Given the description of an element on the screen output the (x, y) to click on. 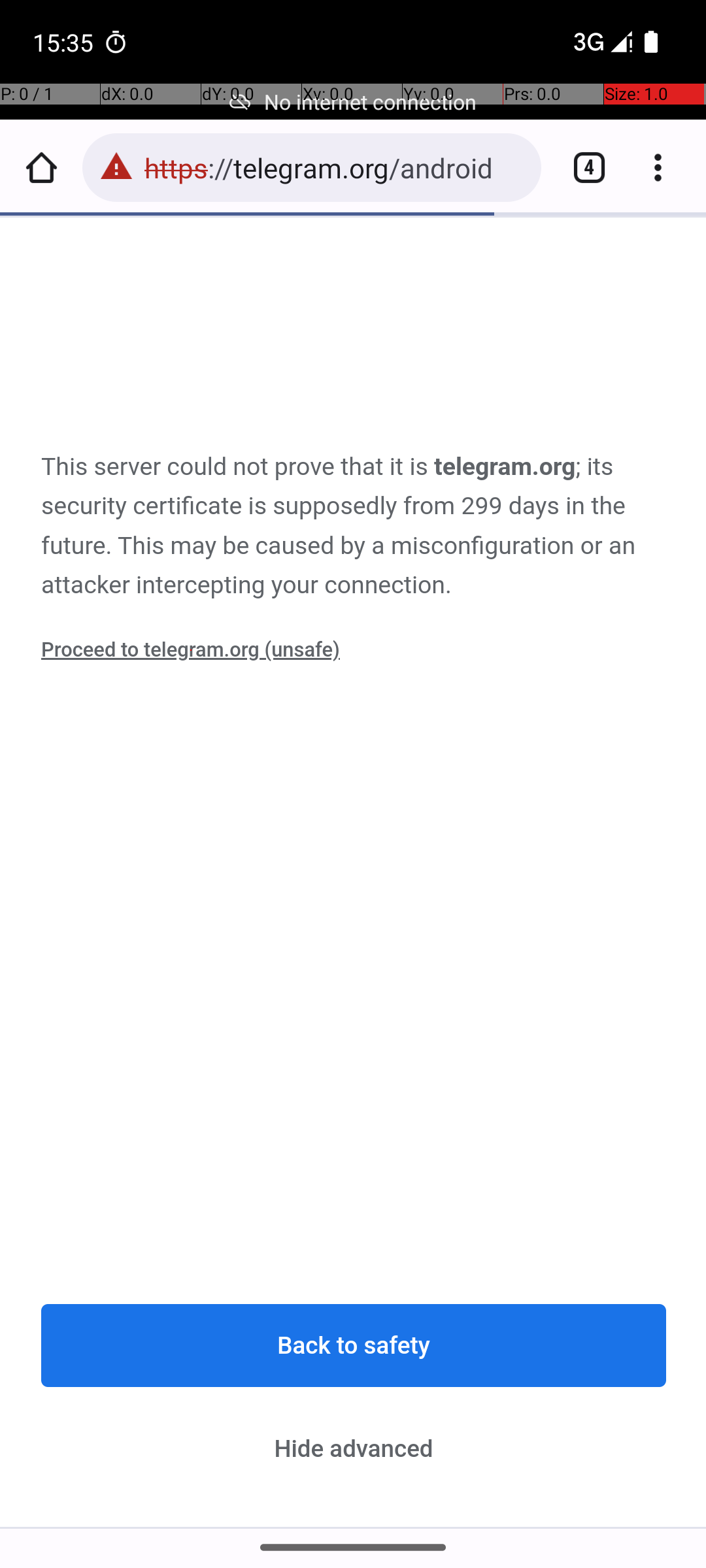
https://telegram.org/android Element type: android.widget.EditText (335, 167)
